Given the description of an element on the screen output the (x, y) to click on. 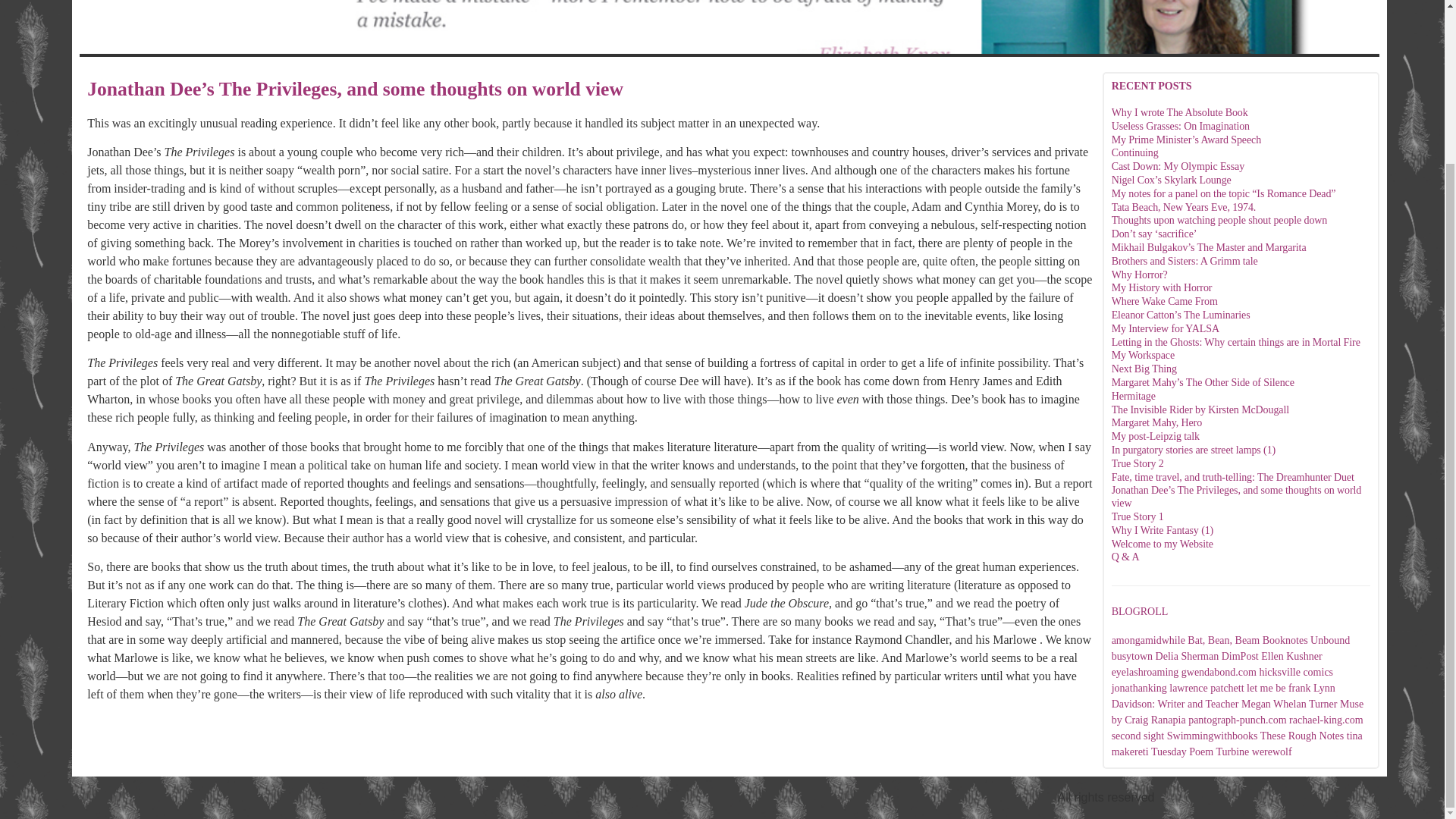
True Story 1 (1137, 516)
Continuing (1135, 152)
Fate, time travel, and truth-telling: The Dreamhunter Duet (1233, 477)
Useless Grasses: On Imagination (1180, 125)
the blog of Victoria University Press (1301, 736)
Margaret Mahy, Hero (1157, 422)
True Story 2 (1137, 463)
Hermitage (1134, 396)
The Invisible Rider by Kirsten McDougall (1200, 409)
My Interview for YALSA (1166, 328)
Where Wake Came From (1164, 301)
My Workspace (1143, 355)
journal of the Book Council on New Zealand (1306, 640)
Thoughts upon watching people shout people down (1219, 220)
Why I wrote The Absolute Book (1179, 112)
